Given the description of an element on the screen output the (x, y) to click on. 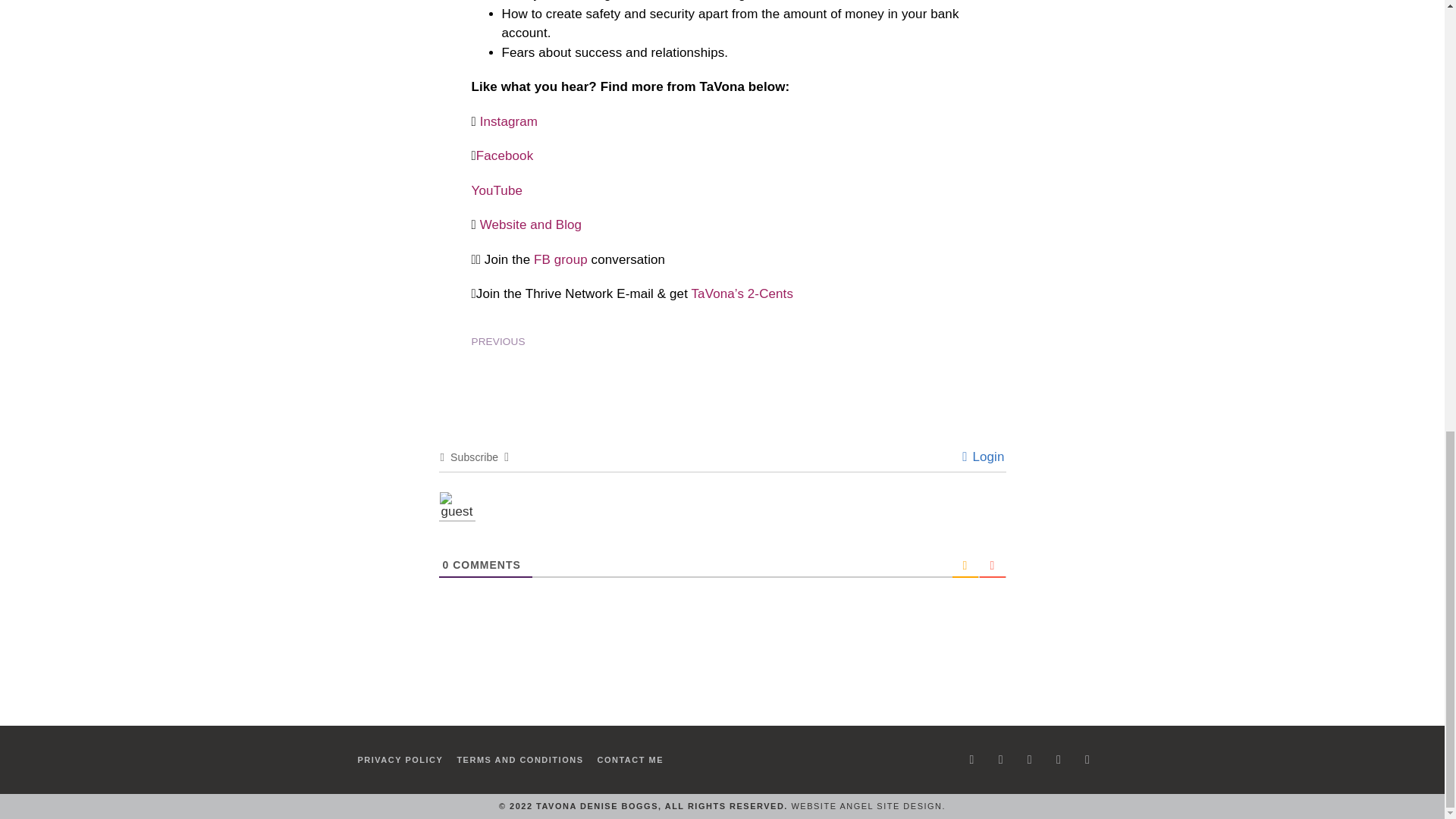
FB group (561, 258)
PREVIOUS (596, 340)
Facebook (504, 155)
Website and Blog (531, 224)
YouTube (496, 190)
Login (983, 456)
Instagram (509, 120)
